Given the description of an element on the screen output the (x, y) to click on. 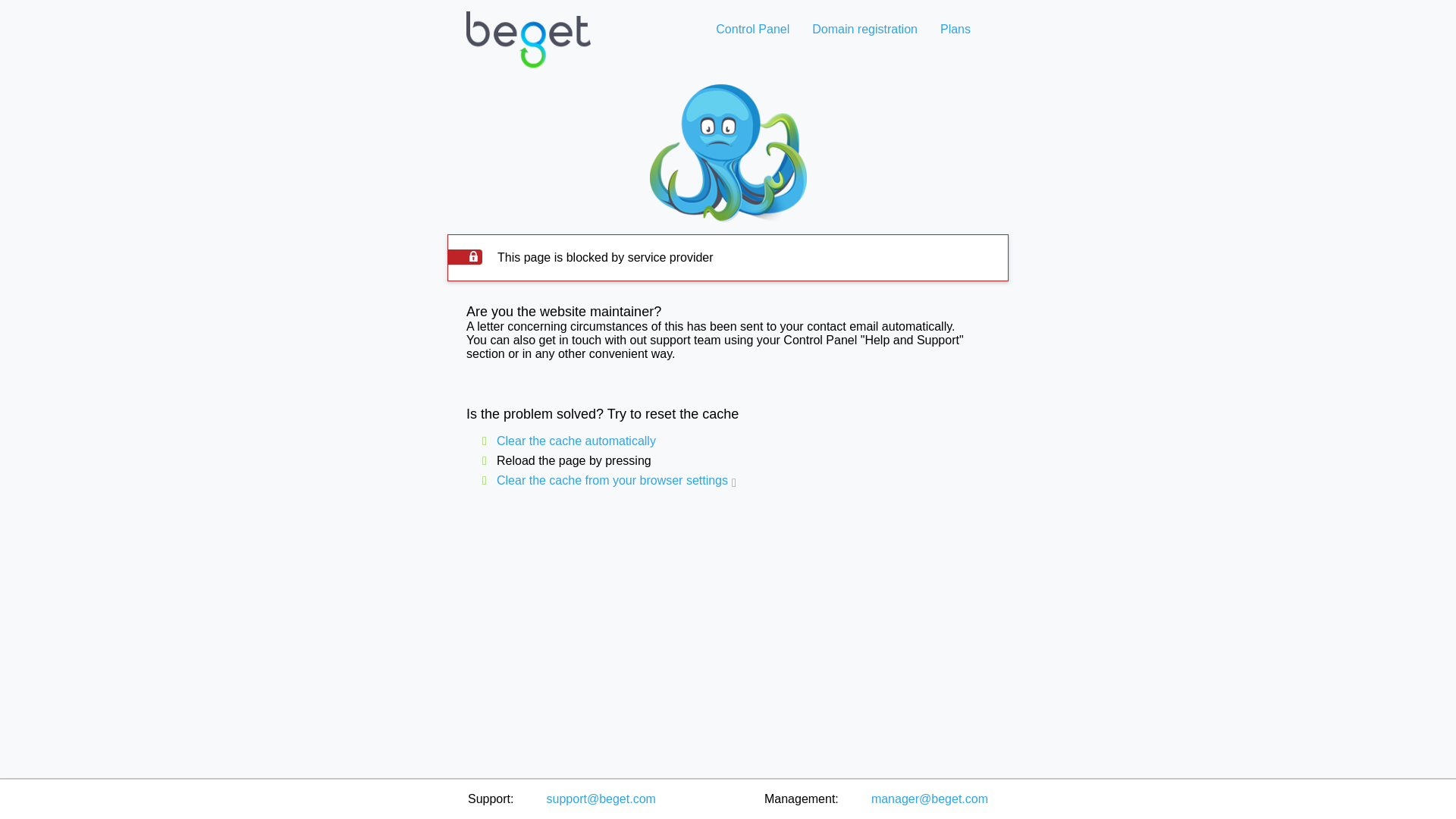
Domain registration (864, 29)
Clear the cache from your browser settings (612, 480)
Plans (954, 29)
Clear the cache automatically (576, 440)
Control Panel (752, 29)
Web hosting home page (528, 51)
